Given the description of an element on the screen output the (x, y) to click on. 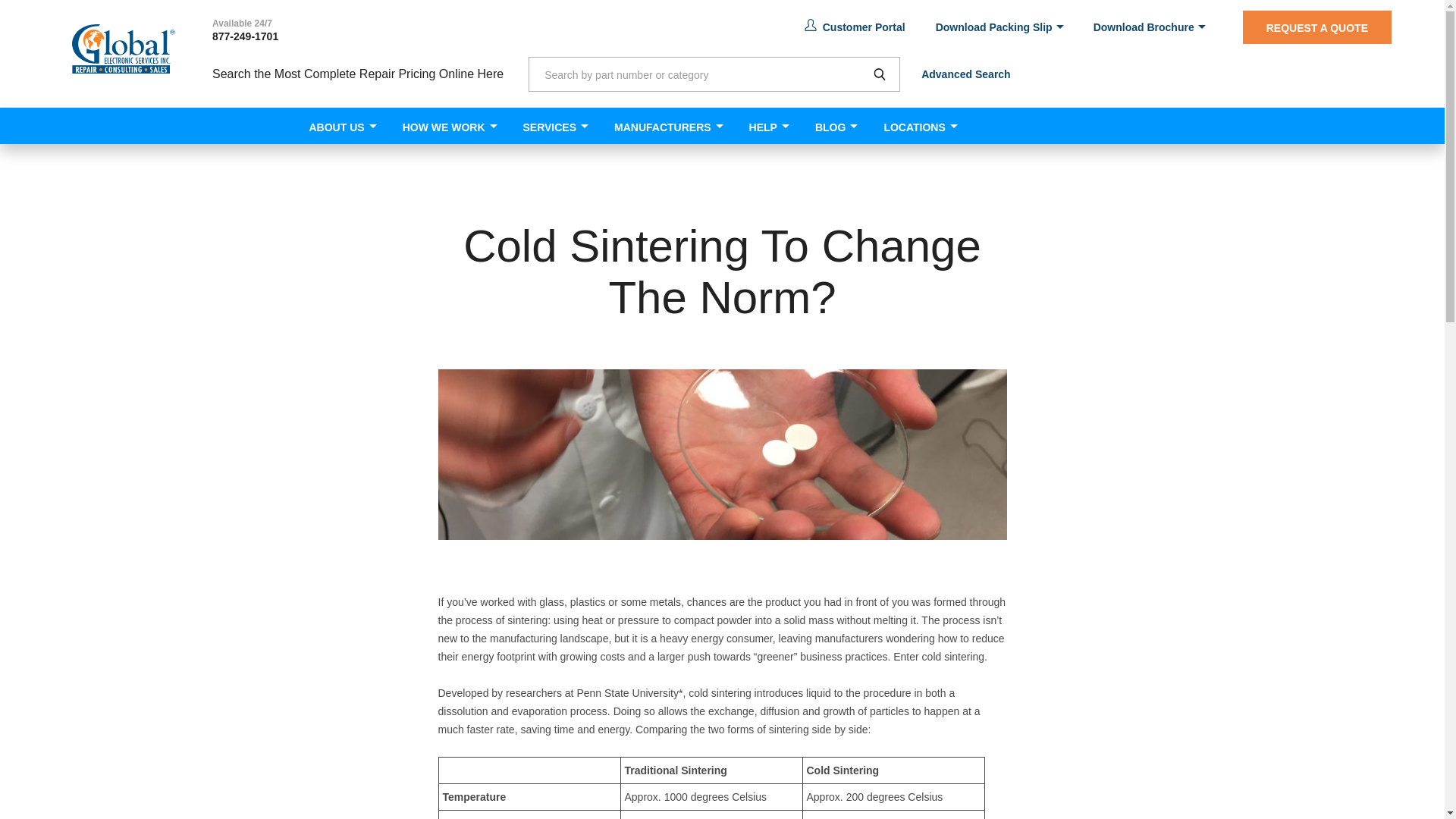
HOW WE WORK (443, 125)
ABOUT US (335, 125)
Advanced Search (965, 73)
Download Packing Slip (999, 27)
Download Brochure (1149, 27)
REQUEST A QUOTE (1317, 27)
SERVICES (549, 125)
Opens in a new window (855, 27)
Customer Portal (855, 27)
877-249-1701 (245, 36)
